Given the description of an element on the screen output the (x, y) to click on. 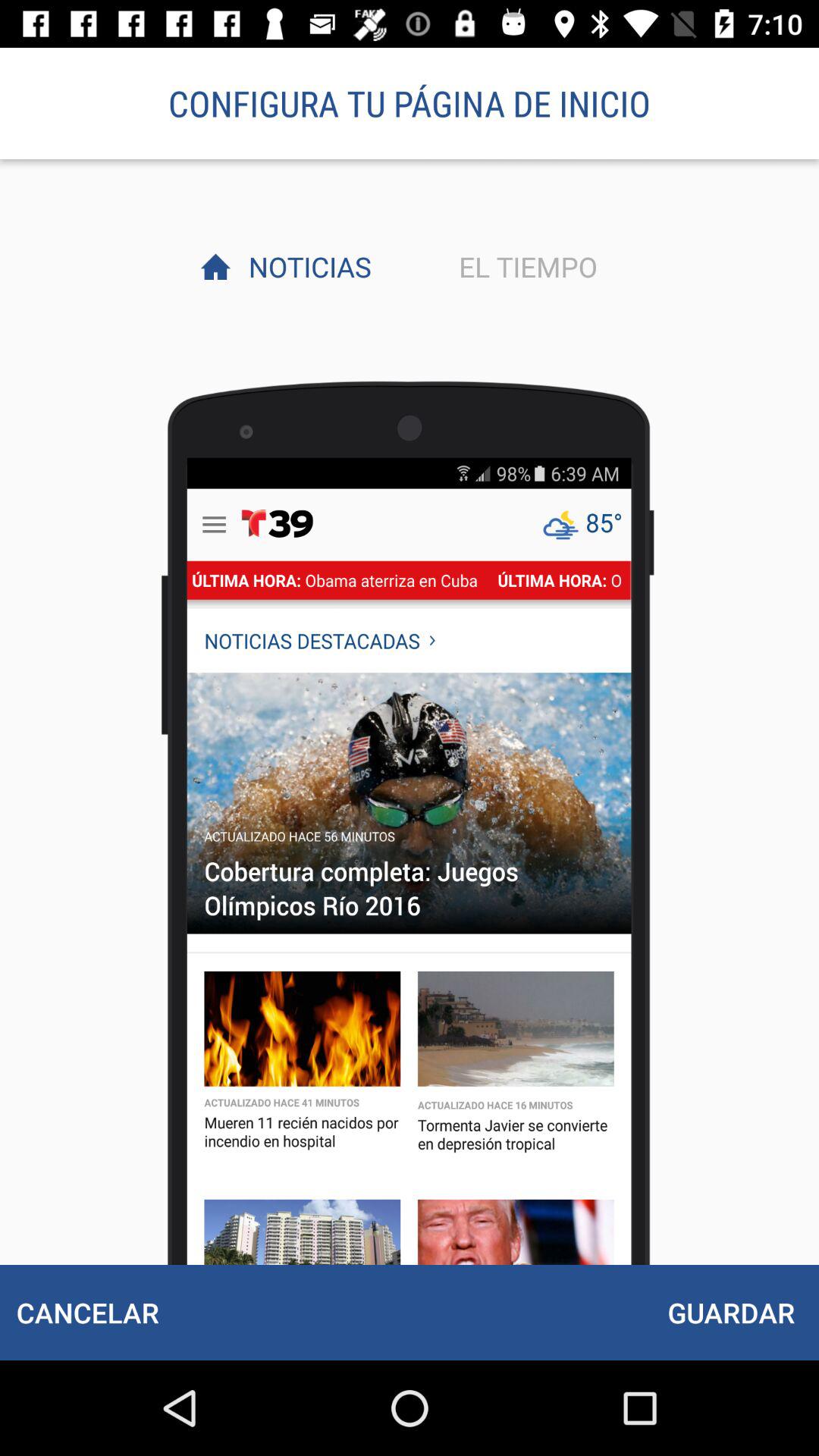
select icon next to noticias icon (524, 266)
